Given the description of an element on the screen output the (x, y) to click on. 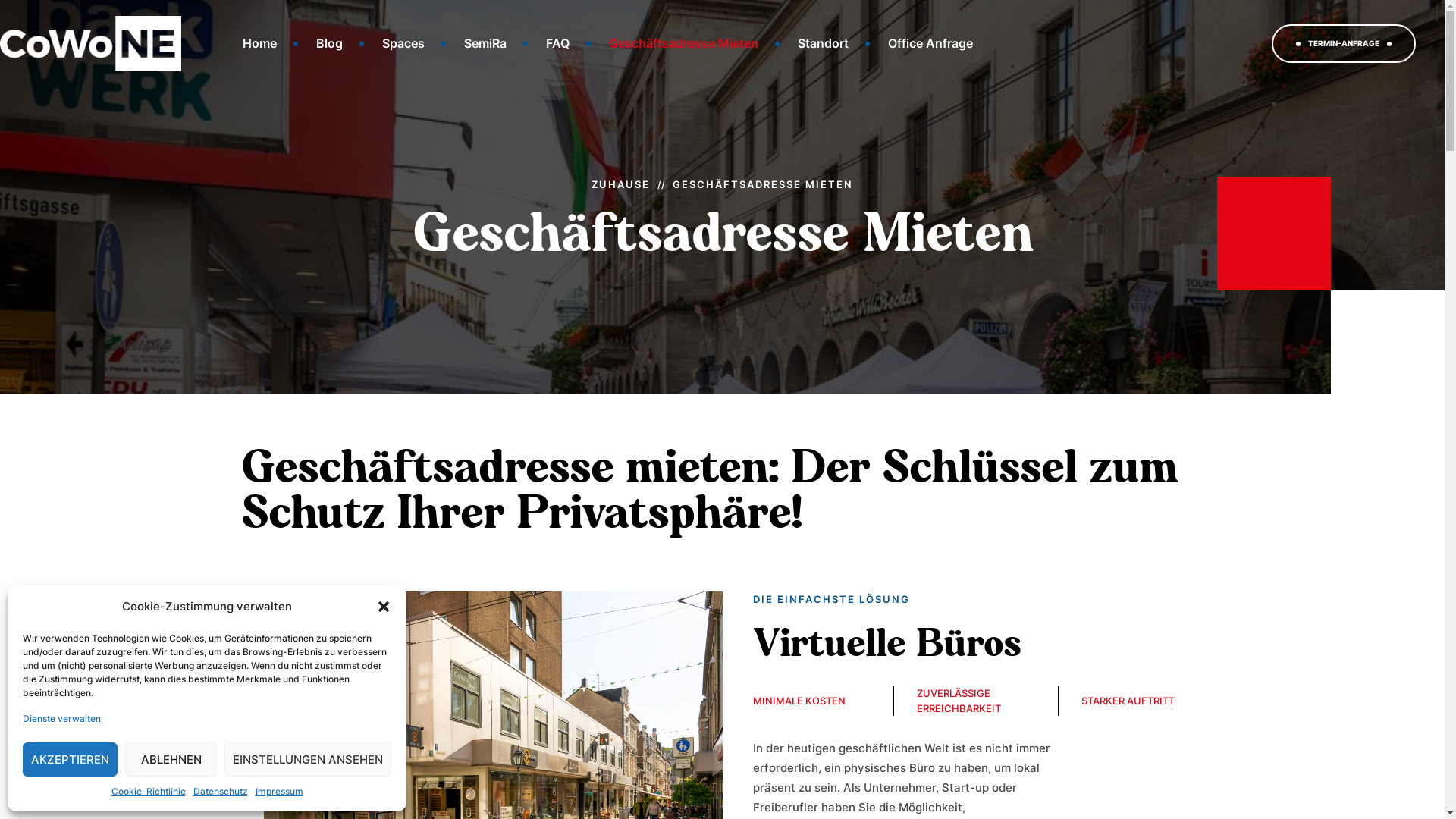
Spaces Element type: text (403, 43)
Datenschutz Element type: text (219, 792)
Standort Element type: text (822, 43)
SemiRa Element type: text (484, 43)
FAQ Element type: text (557, 43)
Blog Element type: text (329, 43)
ZUHAUSE Element type: text (620, 183)
ABLEHNEN Element type: text (170, 759)
Office Anfrage Element type: text (930, 43)
Home Element type: text (259, 43)
TERMIN-ANFRAGE Element type: text (1343, 43)
EINSTELLUNGEN ANSEHEN Element type: text (307, 759)
Impressum Element type: text (278, 792)
Cookie-Richtlinie Element type: text (147, 792)
AKZEPTIEREN Element type: text (69, 759)
Dienste verwalten Element type: text (61, 719)
